Given the description of an element on the screen output the (x, y) to click on. 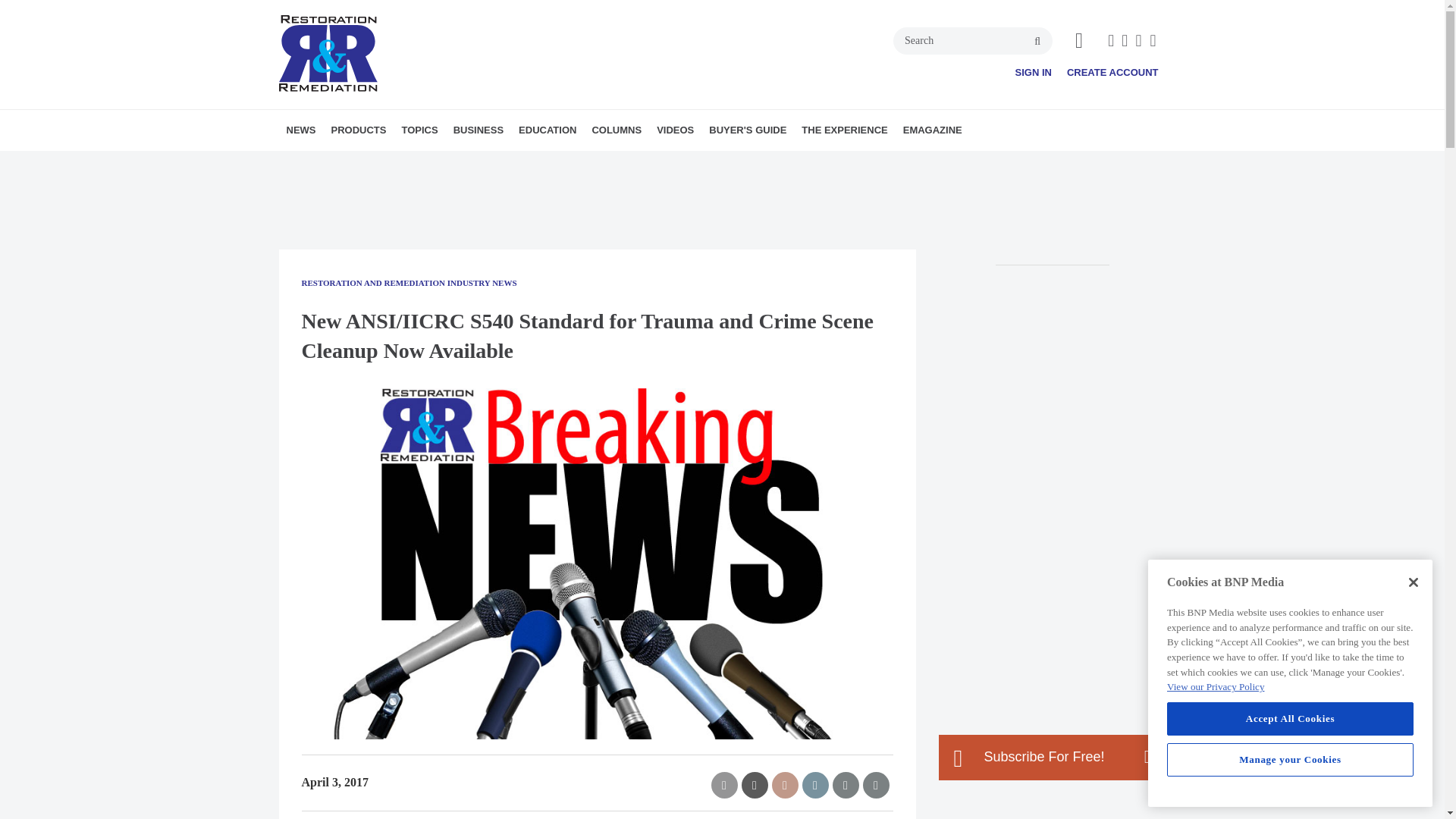
Search (972, 40)
Search (972, 40)
